Given the description of an element on the screen output the (x, y) to click on. 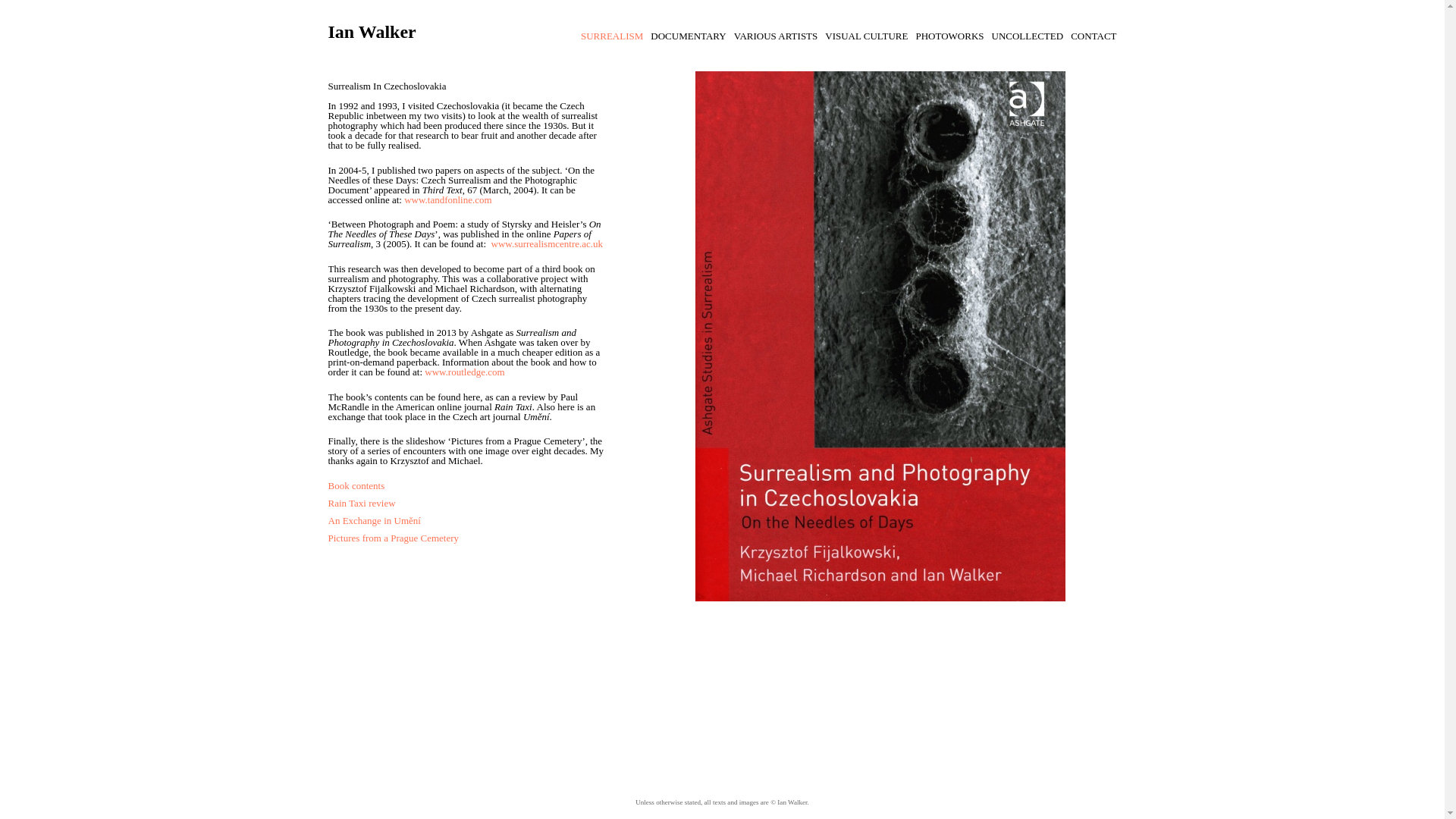
Pictures from a Prague Cemetery (392, 537)
PHOTOWORKS (949, 35)
DOCUMENTARY (687, 35)
VISUAL CULTURE (866, 35)
www.tandfonline.com (448, 199)
CONTACT (1093, 35)
Ian Walker (370, 31)
Book contents (355, 484)
Rain Taxi review (360, 502)
